Given the description of an element on the screen output the (x, y) to click on. 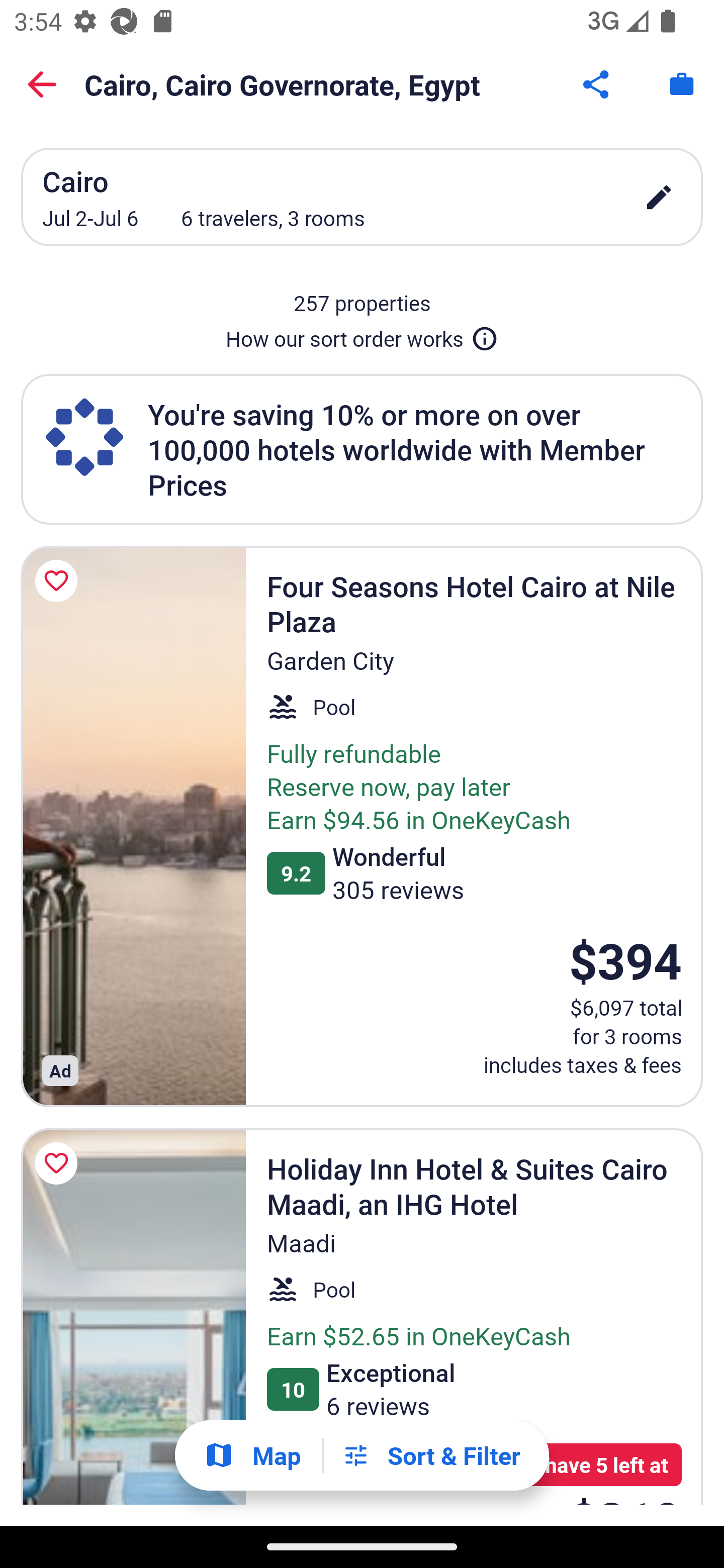
Back (42, 84)
Share Button (597, 84)
Trips. Button (681, 84)
Cairo Jul 2-Jul 6 6 travelers, 3 rooms edit (361, 196)
How our sort order works (361, 334)
Four Seasons Hotel Cairo at Nile Plaza (133, 826)
Filters Sort & Filter Filters Button (430, 1455)
Show map Map Show map Button (252, 1455)
